Given the description of an element on the screen output the (x, y) to click on. 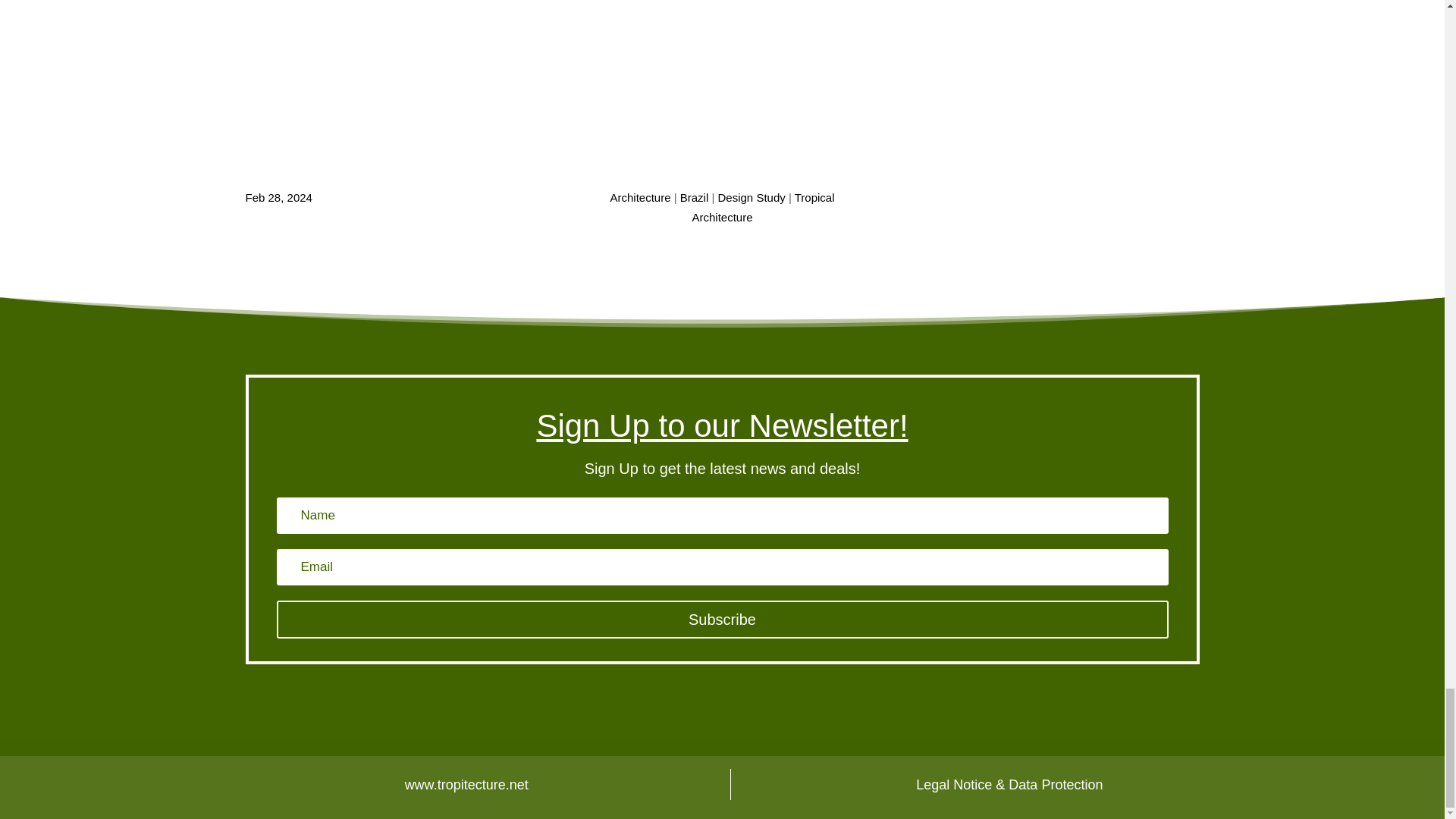
Design Study (751, 196)
Architecture (639, 196)
Tropical Architecture (762, 206)
Brazil (694, 196)
